Given the description of an element on the screen output the (x, y) to click on. 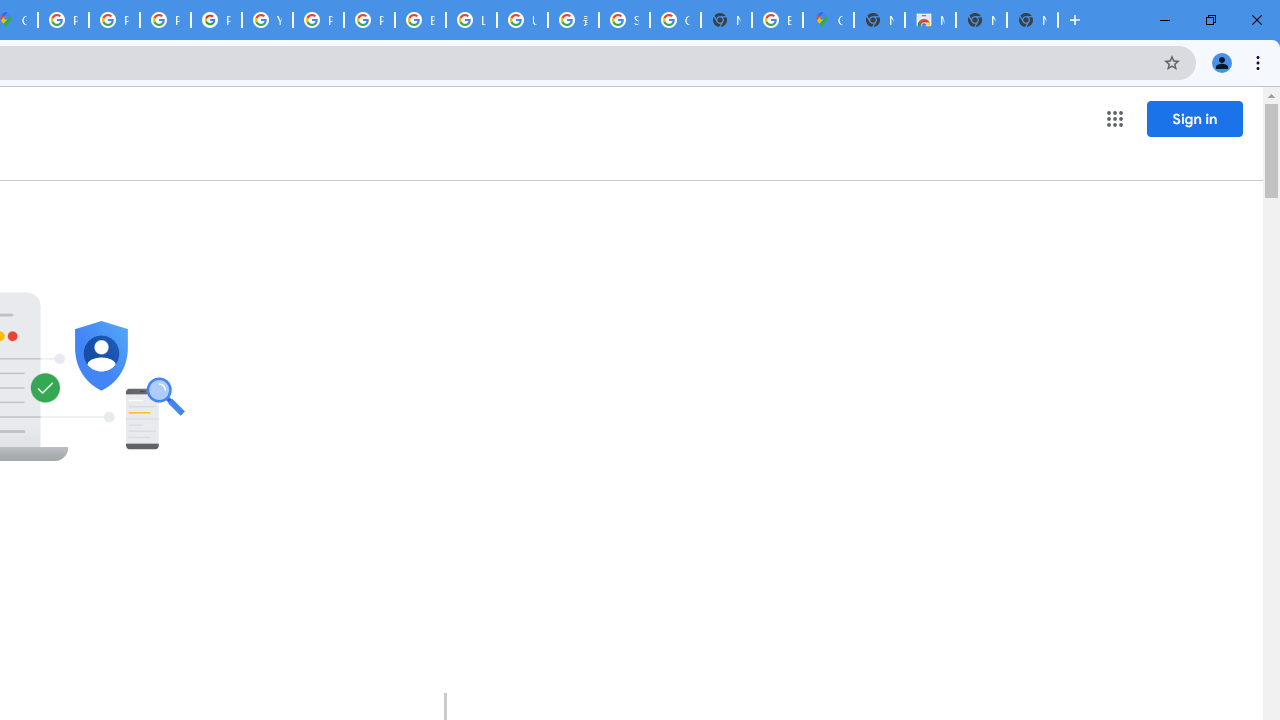
Sign in - Google Accounts (624, 20)
Policy Accountability and Transparency - Transparency Center (63, 20)
Google Maps (827, 20)
New Tab (1032, 20)
Privacy Help Center - Policies Help (113, 20)
